Given the description of an element on the screen output the (x, y) to click on. 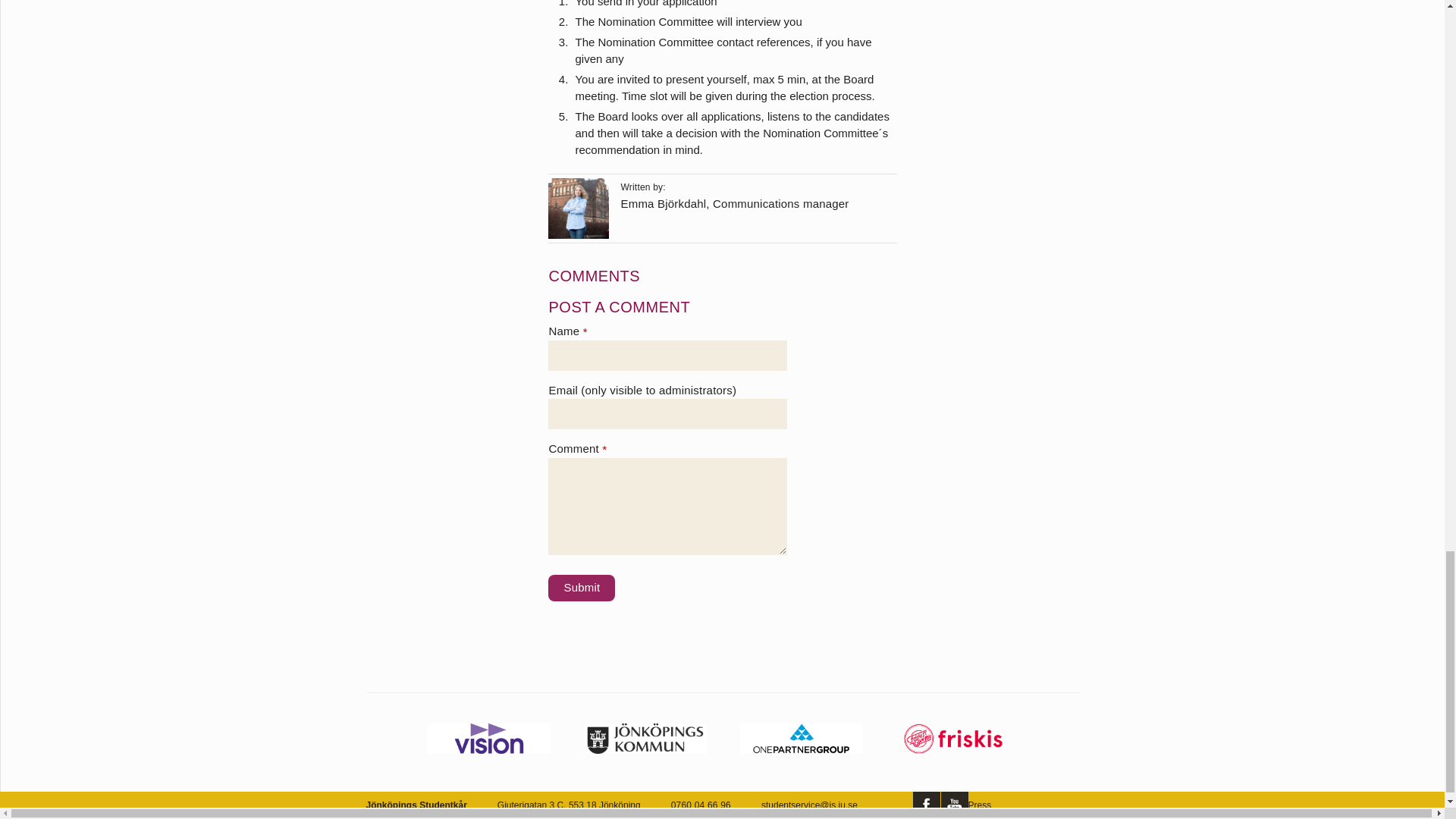
Submit (581, 587)
Submit (581, 587)
